Given the description of an element on the screen output the (x, y) to click on. 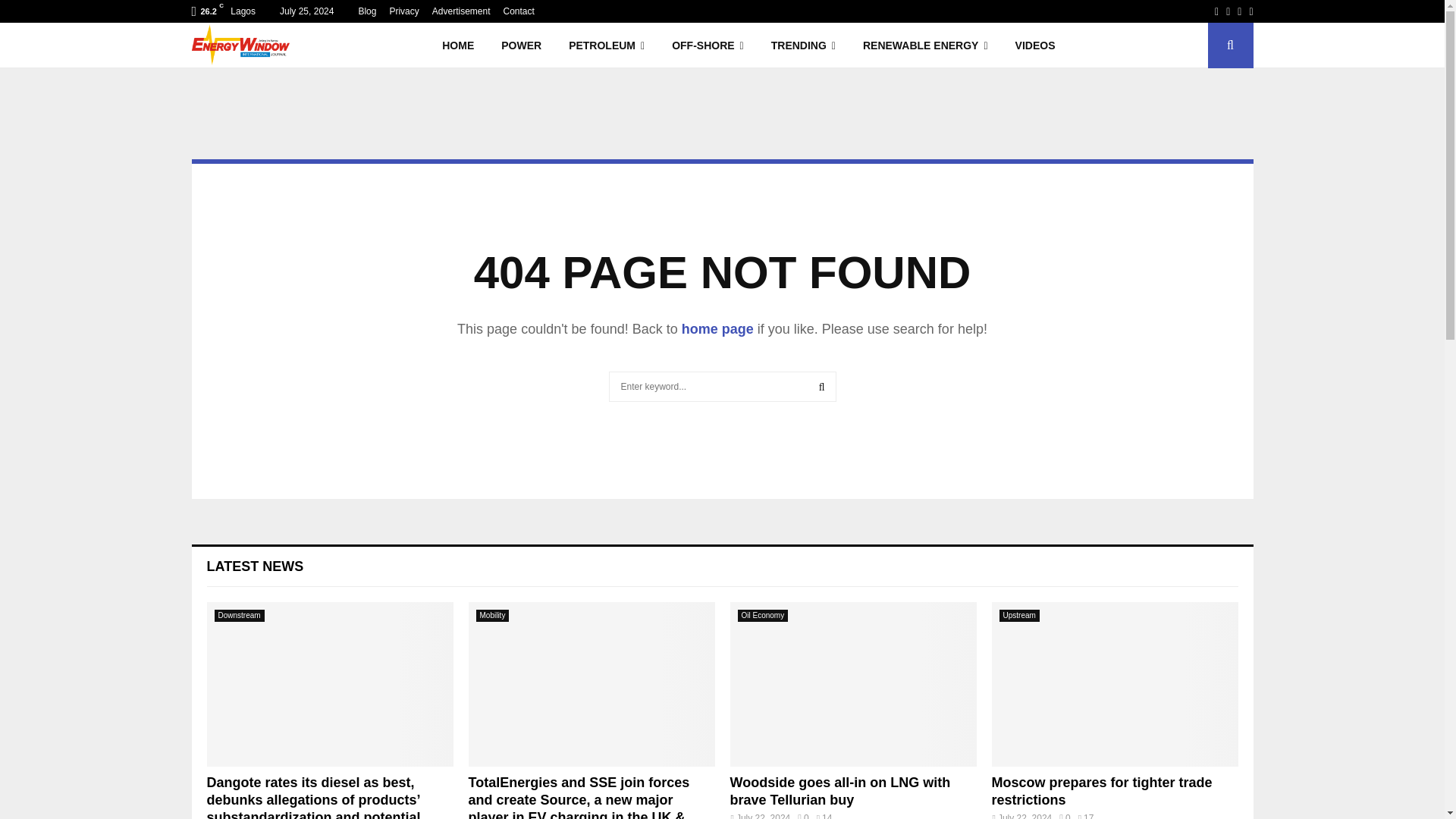
Advertisement (461, 11)
Privacy (403, 11)
OFF-SHORE (707, 44)
Contact (518, 11)
PETROLEUM (606, 44)
POWER (520, 44)
HOME (457, 44)
